Given the description of an element on the screen output the (x, y) to click on. 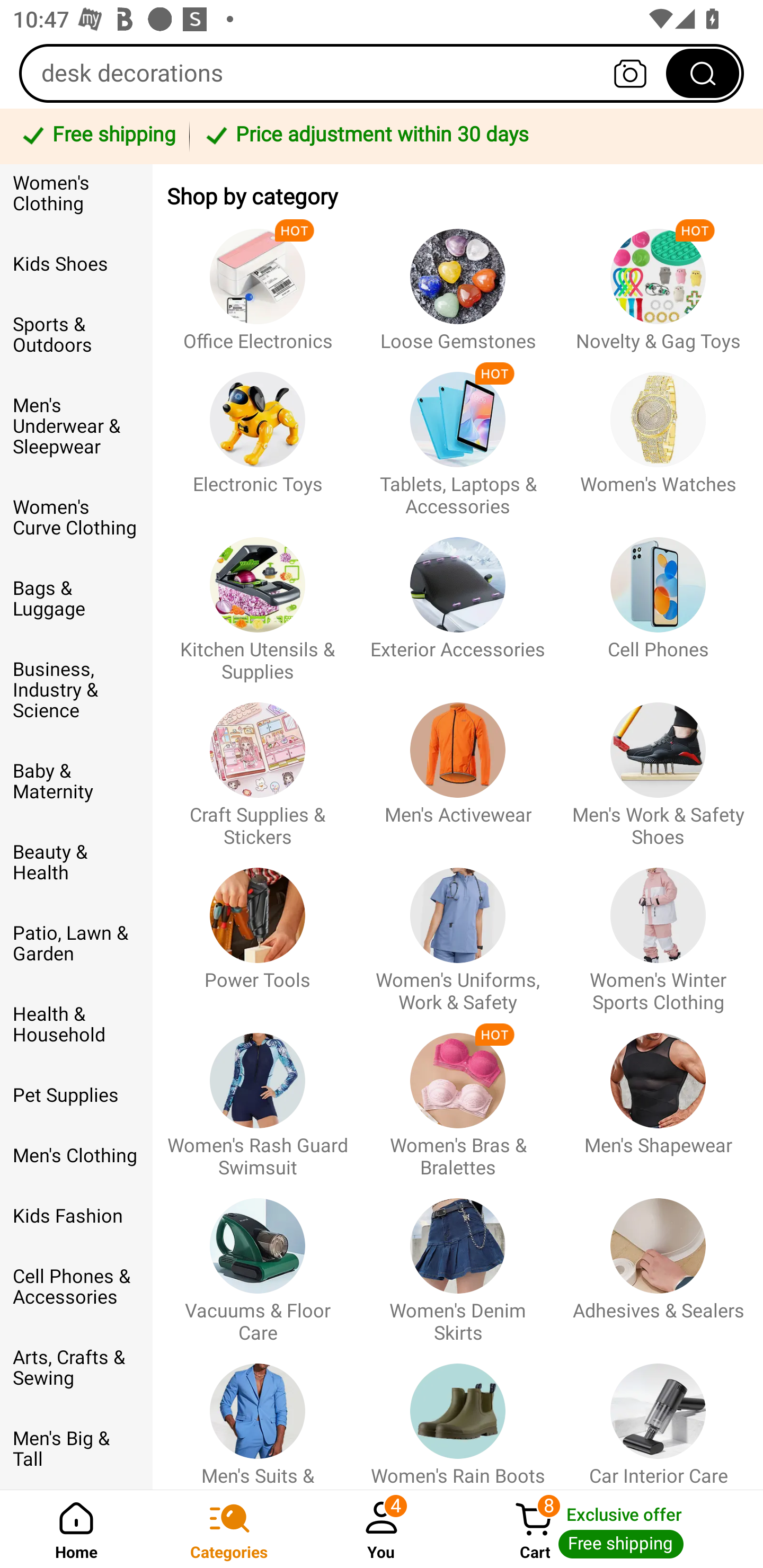
desk decorations (381, 73)
Free shipping (97, 136)
Price adjustment within 30 days (472, 136)
Women's Clothing (76, 198)
Office Electronics (257, 281)
Loose Gemstones (457, 281)
Novelty & Gag Toys (657, 281)
Kids Shoes (76, 263)
Sports & Outdoors (76, 335)
Electronic Toys (257, 434)
Tablets, Laptops & Accessories (457, 434)
Women's Watches (657, 434)
Men's Underwear & Sleepwear (76, 426)
Women's Curve Clothing (76, 517)
Kitchen Utensils & Supplies (257, 600)
Exterior Accessories (457, 600)
Cell Phones (657, 600)
Bags & Luggage (76, 598)
Business, Industry & Science (76, 690)
Craft Supplies & Stickers (257, 765)
Men's Activewear (457, 765)
Men's Work & Safety Shoes (657, 765)
Baby & Maternity (76, 781)
Beauty & Health (76, 862)
Power Tools (257, 931)
Women's Uniforms, Work & Safety (457, 931)
Women's Winter Sports Clothing (657, 931)
Patio, Lawn & Garden (76, 943)
Health & Household (76, 1024)
Women's Rash Guard Swimsuit (257, 1096)
Women's Bras & Bralettes (457, 1096)
Men's Shapewear (657, 1096)
Pet Supplies (76, 1094)
Men's Clothing (76, 1155)
Vacuums & Floor Care (257, 1261)
Women's Denim Skirts (457, 1261)
Adhesives & Sealers (657, 1261)
Kids Fashion (76, 1215)
Cell Phones & Accessories (76, 1287)
Arts, Crafts & Sewing (76, 1368)
Men's Suits & Separates (257, 1416)
Women's Rain Boots (457, 1416)
Car Interior Care (657, 1416)
Men's Big & Tall (76, 1448)
Home (76, 1528)
Categories (228, 1528)
You 4 You (381, 1528)
Cart 8 Cart Exclusive offer (610, 1528)
